Given the description of an element on the screen output the (x, y) to click on. 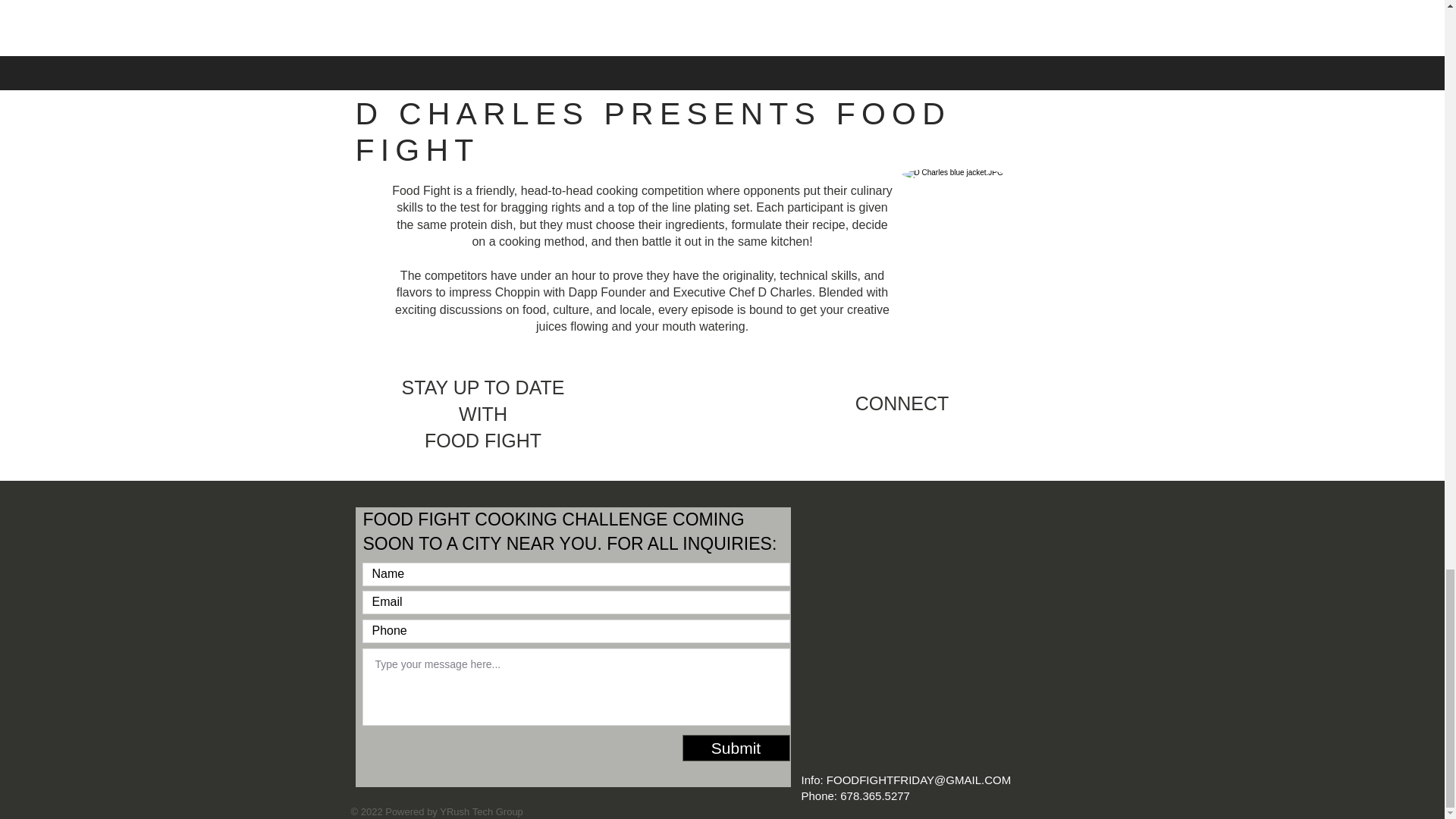
Submit (736, 747)
